Given the description of an element on the screen output the (x, y) to click on. 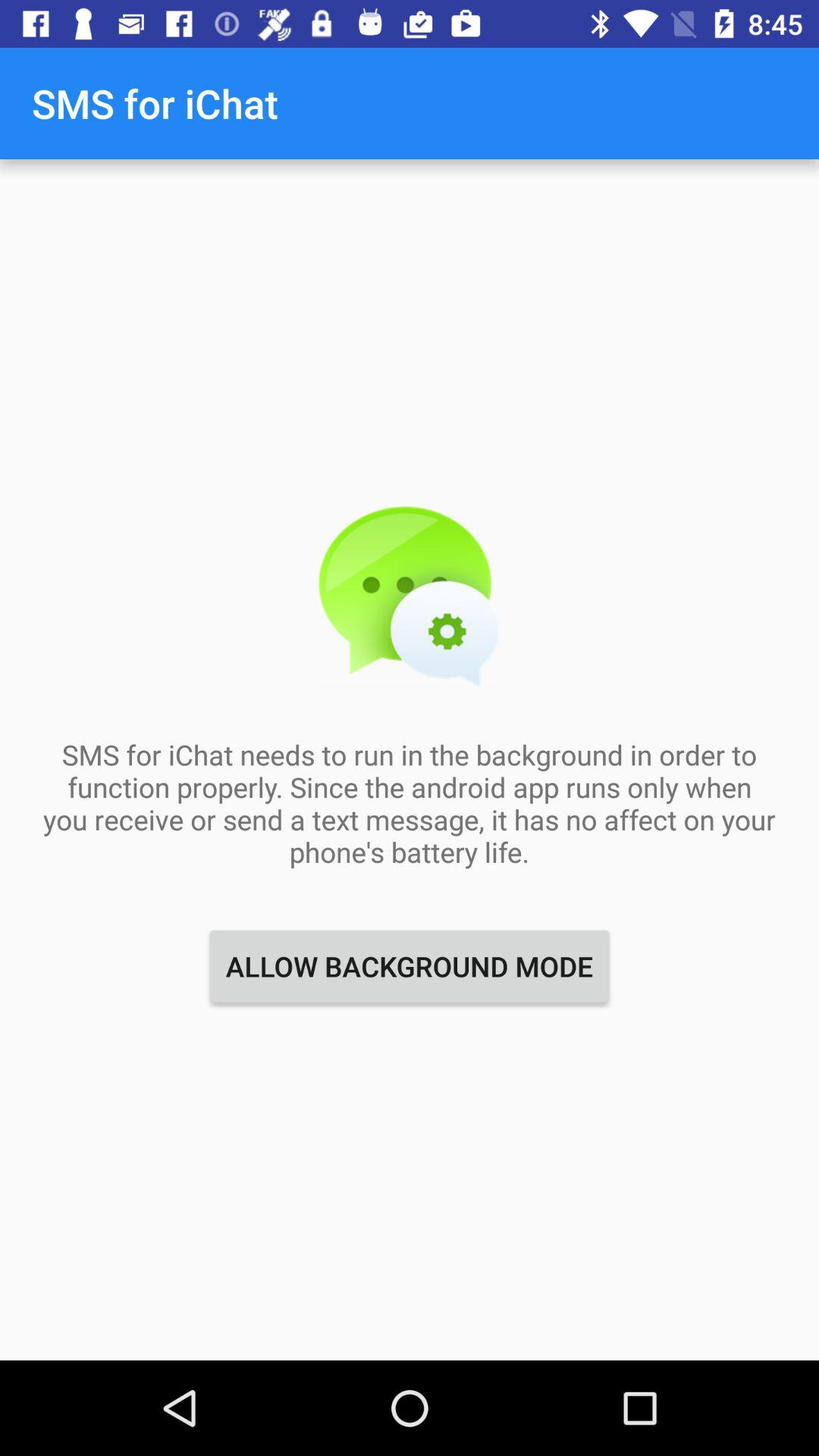
press the item below the sms for ichat item (409, 966)
